Given the description of an element on the screen output the (x, y) to click on. 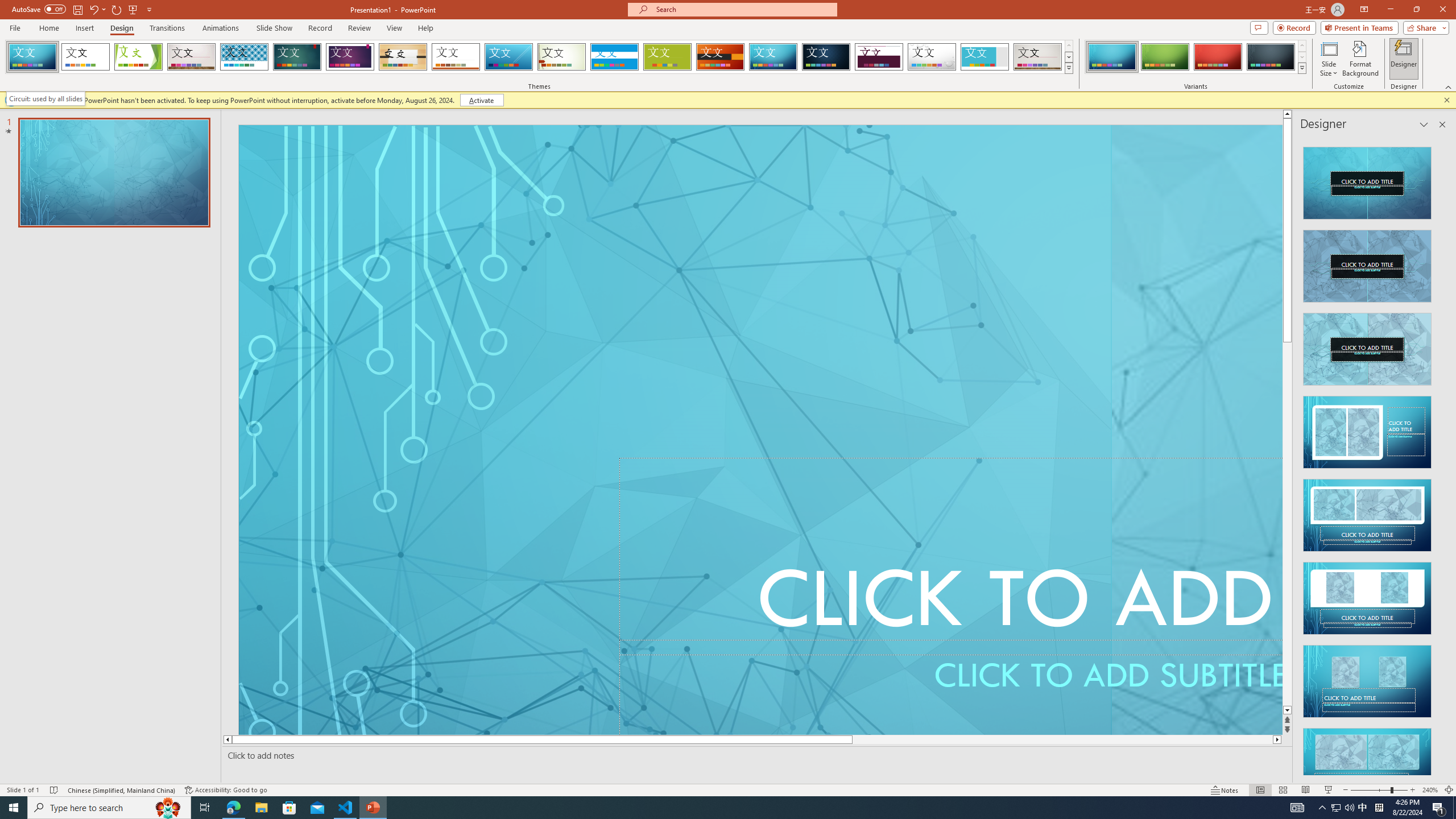
Slide Size (1328, 58)
Format Background (1360, 58)
Title TextBox (950, 556)
Accessibility Checker Accessibility: Good to go (226, 790)
Circuit Variant 3 (1217, 56)
